Given the description of an element on the screen output the (x, y) to click on. 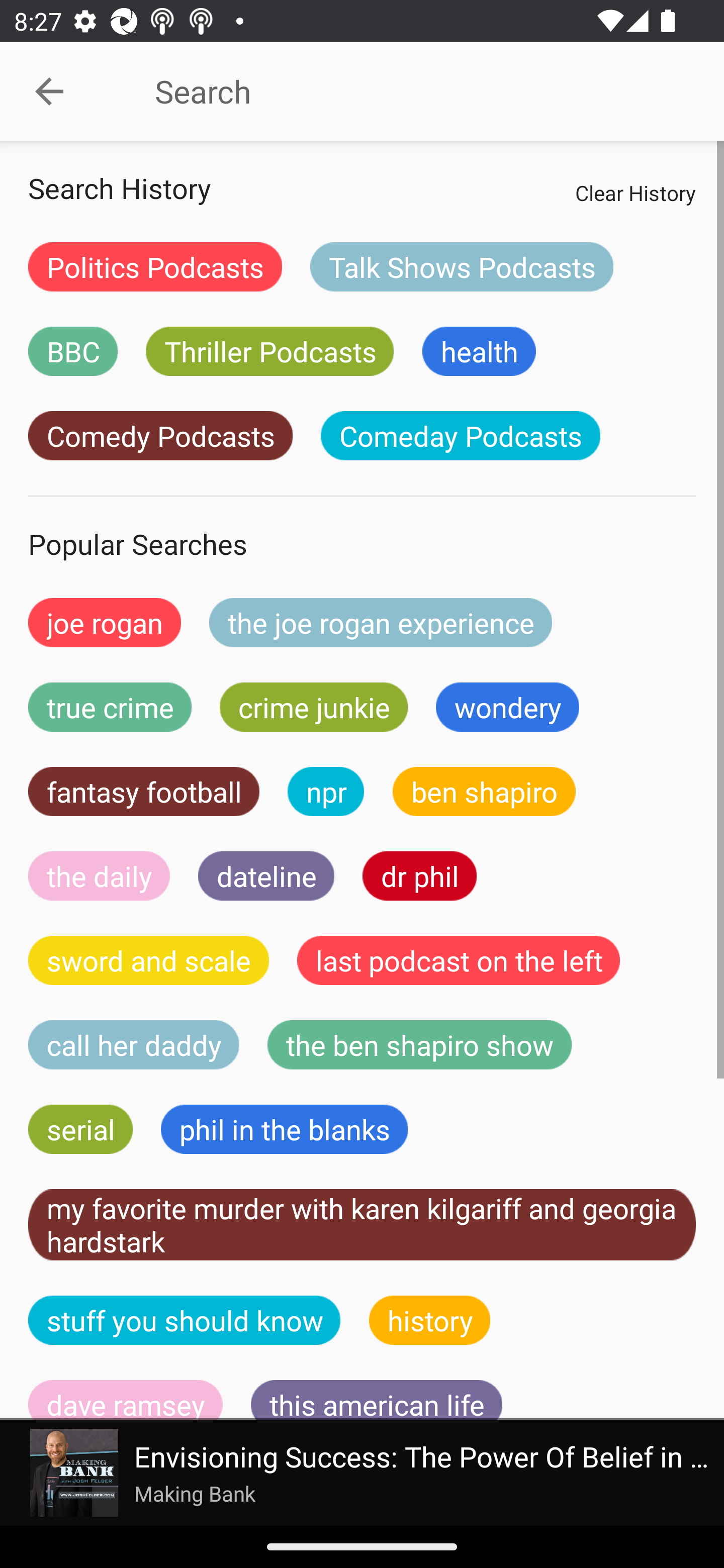
Collapse (49, 91)
Search (407, 91)
Clear History (634, 192)
Politics Podcasts (155, 266)
Talk Shows Podcasts (461, 266)
BBC (72, 351)
Thriller Podcasts (269, 351)
health (478, 351)
Comedy Podcasts (160, 435)
Comeday Podcasts (460, 435)
joe rogan (104, 622)
the joe rogan experience (380, 622)
true crime (109, 707)
crime junkie (313, 707)
wondery (507, 707)
fantasy football (143, 791)
npr (325, 791)
ben shapiro (483, 791)
the daily (99, 875)
dateline (266, 875)
dr phil (419, 875)
sword and scale (148, 960)
last podcast on the left (458, 960)
call her daddy (133, 1044)
the ben shapiro show (419, 1044)
serial (80, 1128)
phil in the blanks (283, 1128)
stuff you should know (184, 1320)
history (429, 1320)
dave ramsey (125, 1399)
this american life (376, 1399)
